Given the description of an element on the screen output the (x, y) to click on. 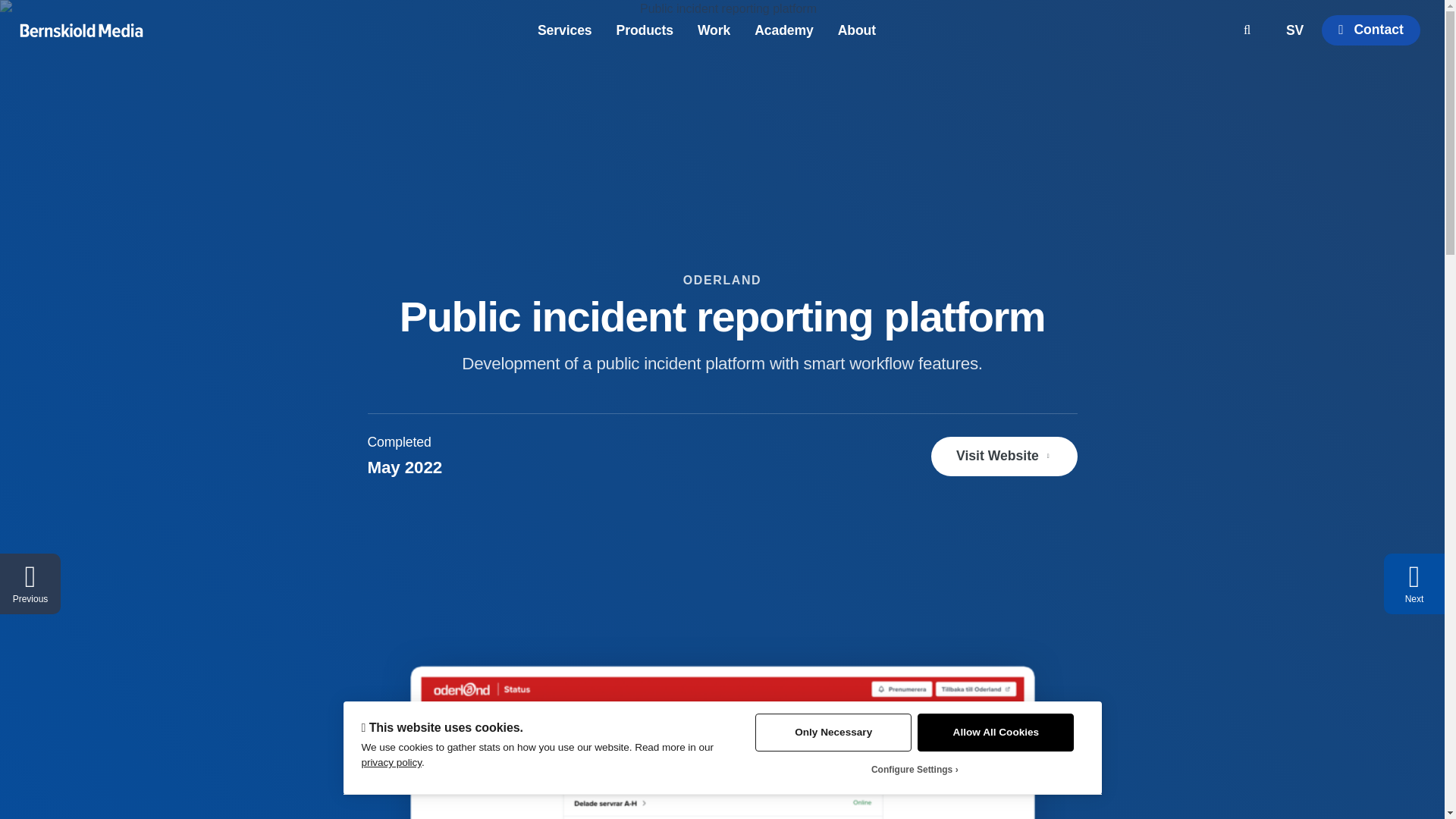
Products (643, 30)
Contact (1371, 30)
Work (713, 30)
Previous (30, 583)
Only Necessary (833, 732)
Academy (783, 30)
privacy policy (390, 762)
Services (564, 30)
Configure Settings (914, 769)
Visit Website (1004, 455)
